Given the description of an element on the screen output the (x, y) to click on. 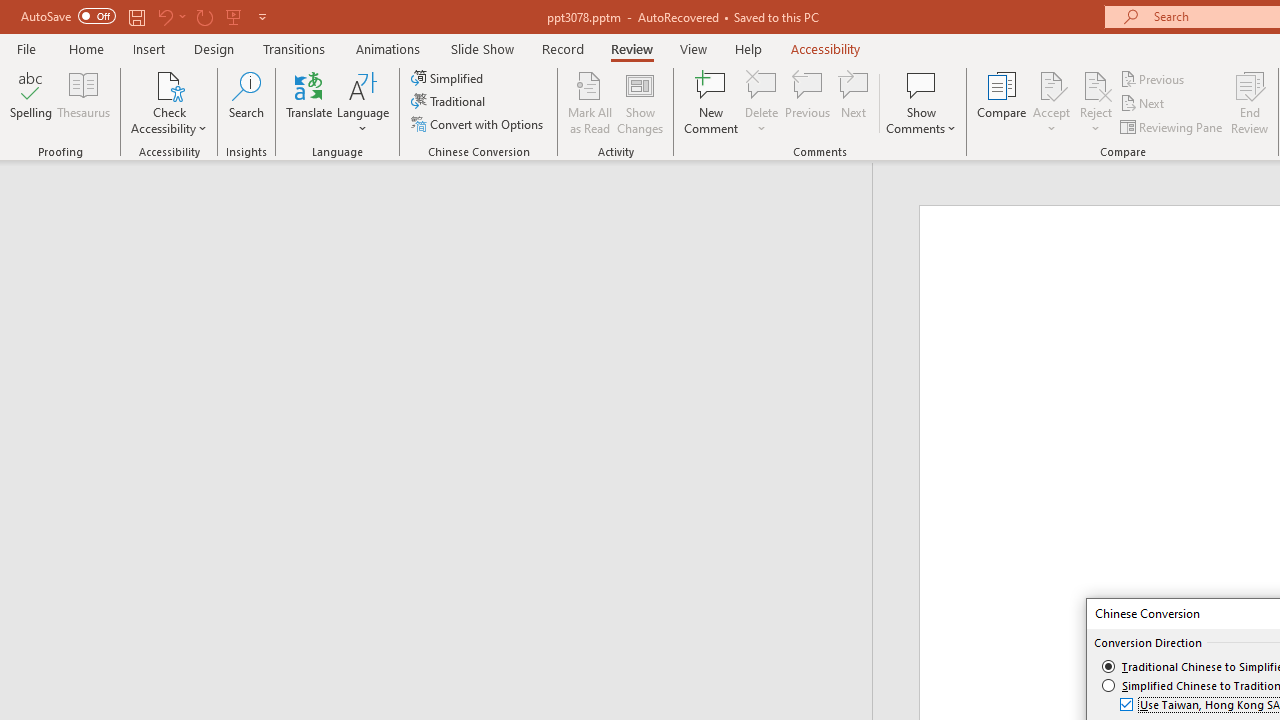
Show Changes (639, 102)
Compare (1002, 102)
Delete (762, 102)
Outline (445, 202)
Translate (309, 102)
Reviewing Pane (1172, 126)
Show Comments (921, 84)
Convert with Options... (479, 124)
